Given the description of an element on the screen output the (x, y) to click on. 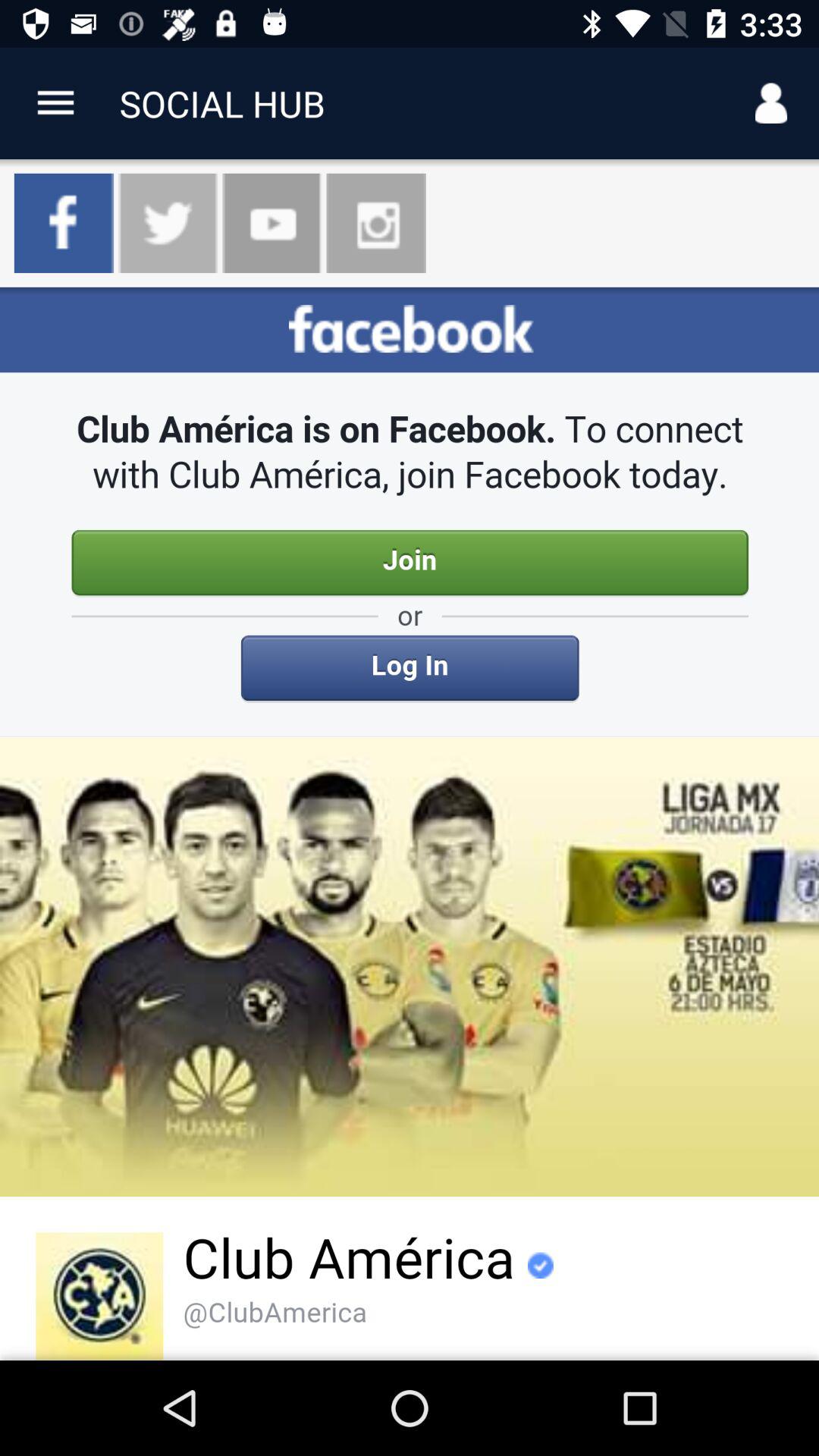
app link (55, 103)
